Given the description of an element on the screen output the (x, y) to click on. 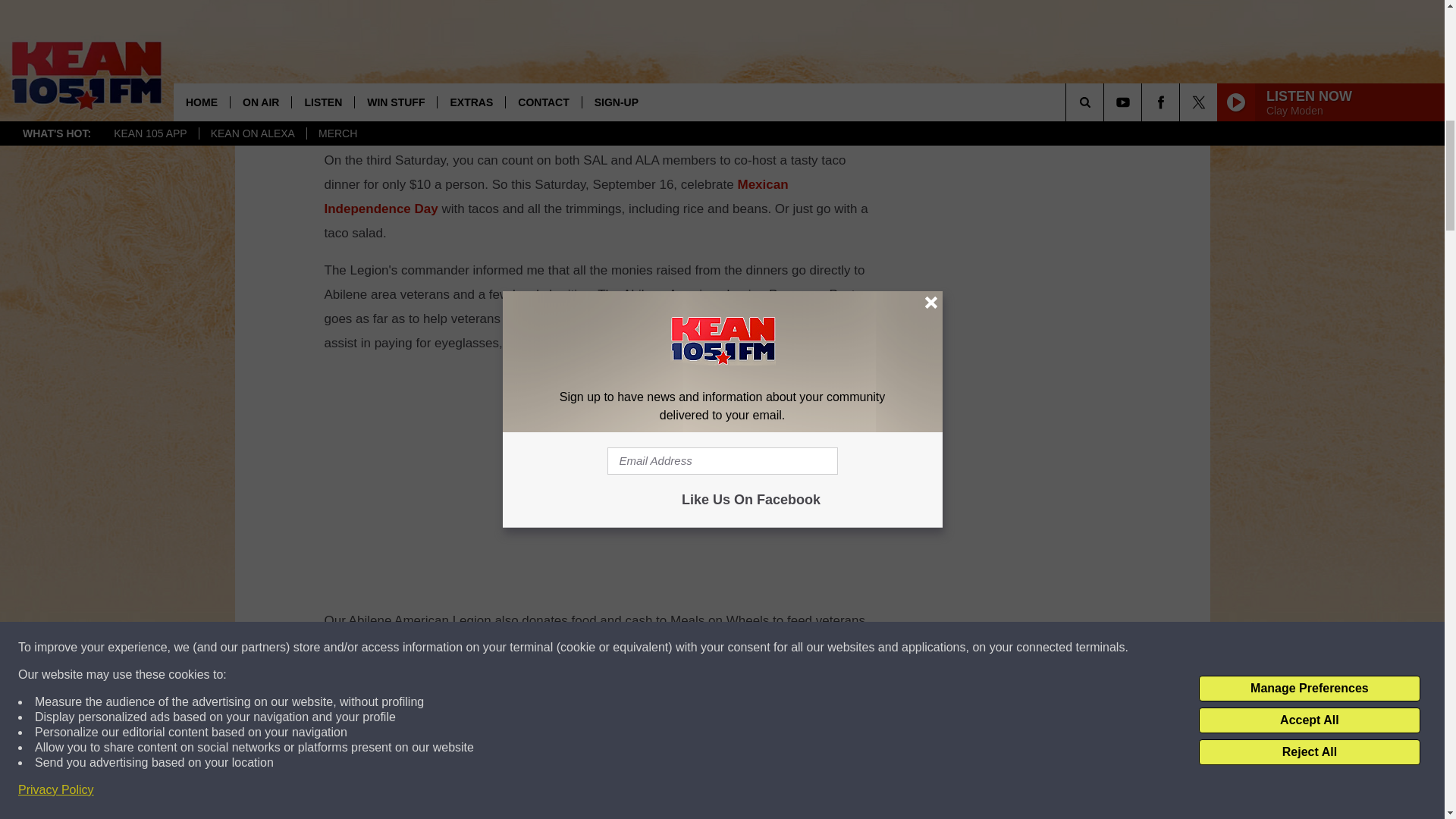
Email Address (600, 800)
